Given the description of an element on the screen output the (x, y) to click on. 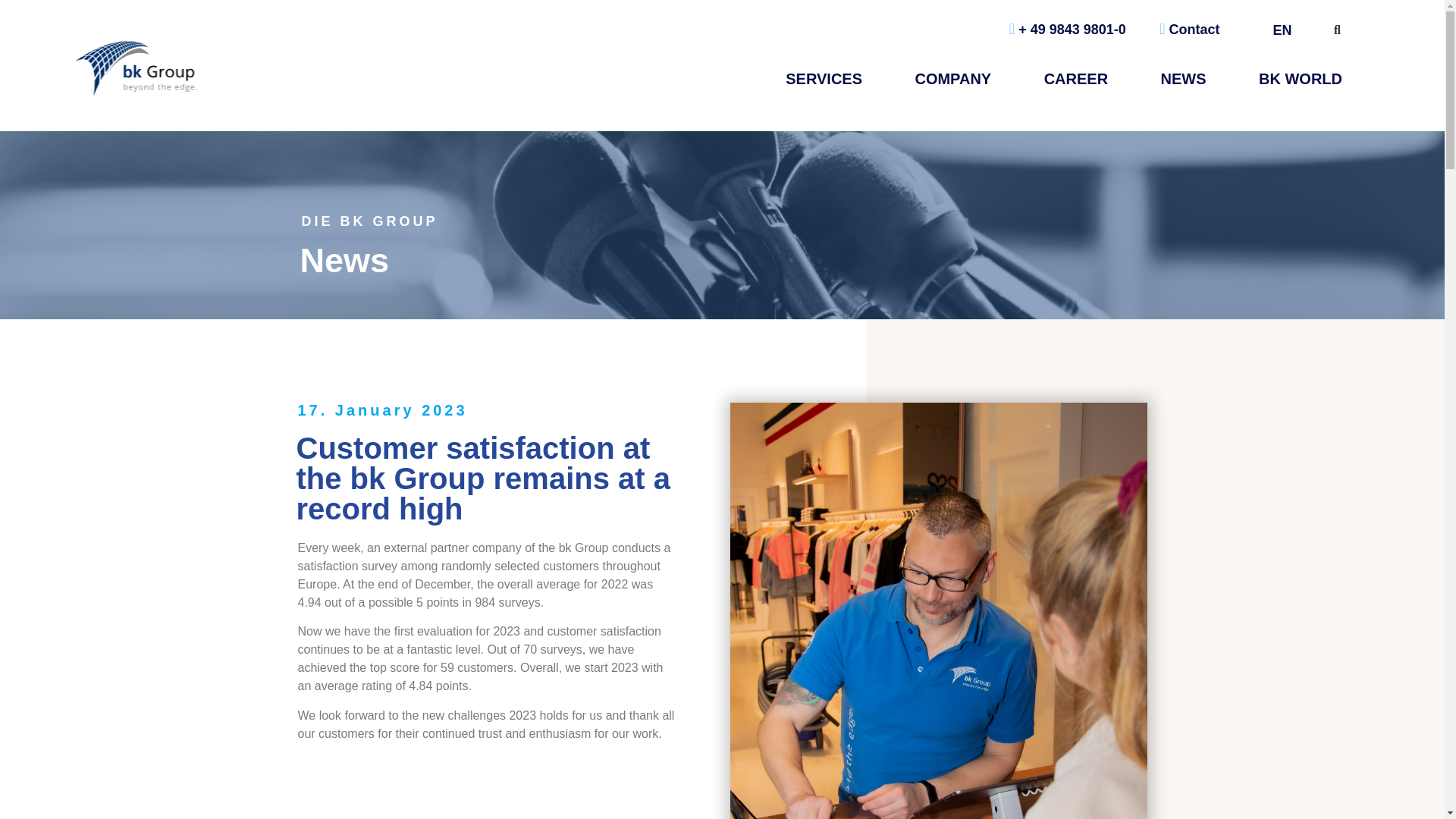
NEWS (1183, 78)
EN (1284, 29)
Search (771, 427)
SERVICES (823, 78)
BK WORLD (1299, 78)
Contact (1189, 29)
COMPANY (952, 78)
CAREER (1075, 78)
